Given the description of an element on the screen output the (x, y) to click on. 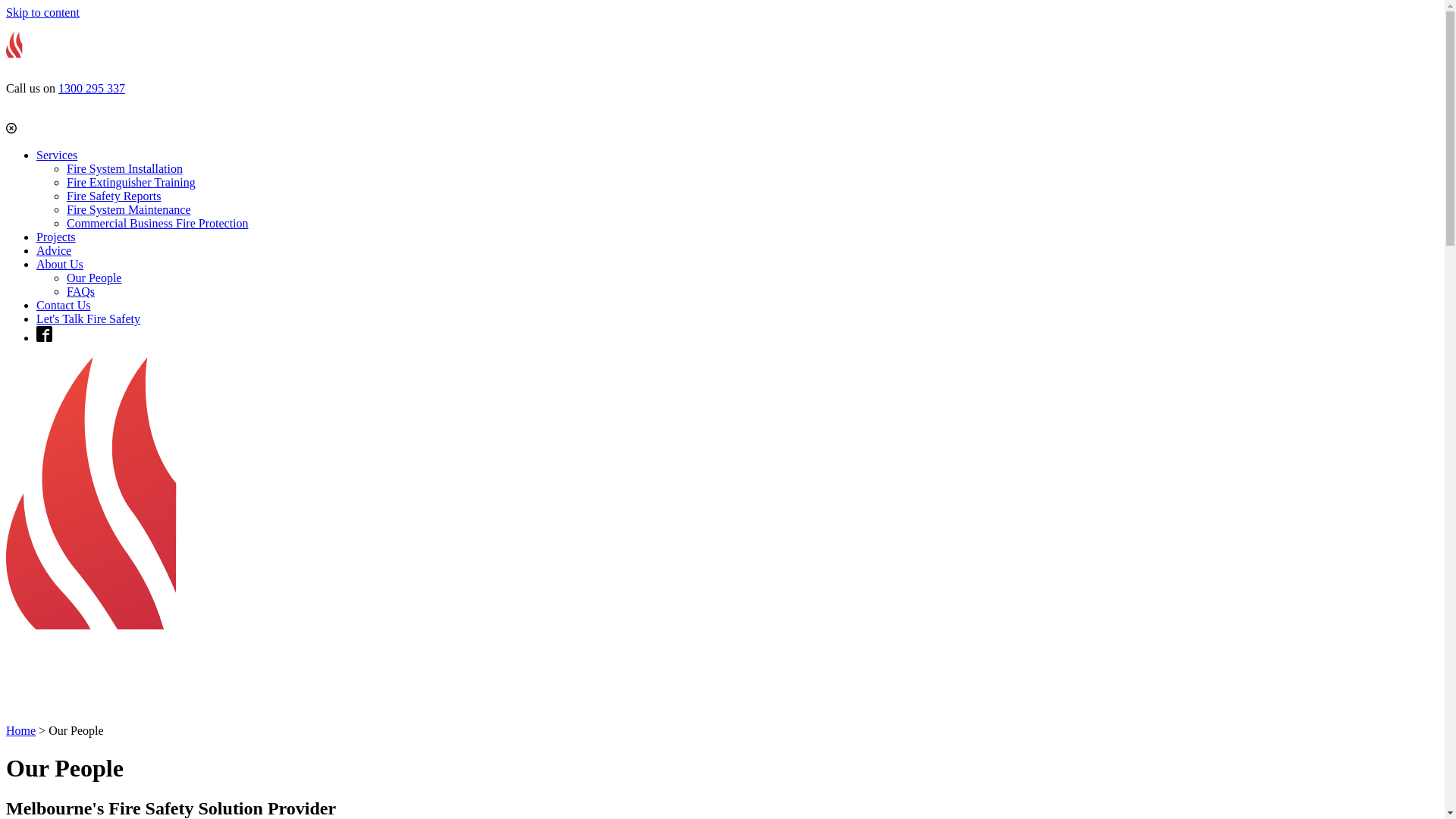
Skip to content Element type: text (42, 12)
Let's Talk Fire Safety Element type: text (88, 318)
Fire System Installation Element type: text (124, 168)
Our People Element type: text (93, 277)
Home Element type: text (20, 730)
Services Element type: text (56, 154)
Fire System Maintenance Element type: text (128, 209)
Advice Element type: text (53, 250)
1300 295 337 Element type: text (91, 87)
Contact Us Element type: text (63, 304)
Commercial Business Fire Protection Element type: text (157, 222)
Fire Extinguisher Training Element type: text (130, 181)
Fire Safety Reports Element type: text (113, 195)
About Us Element type: text (59, 263)
Projects Element type: text (55, 236)
FAQs Element type: text (80, 291)
